Given the description of an element on the screen output the (x, y) to click on. 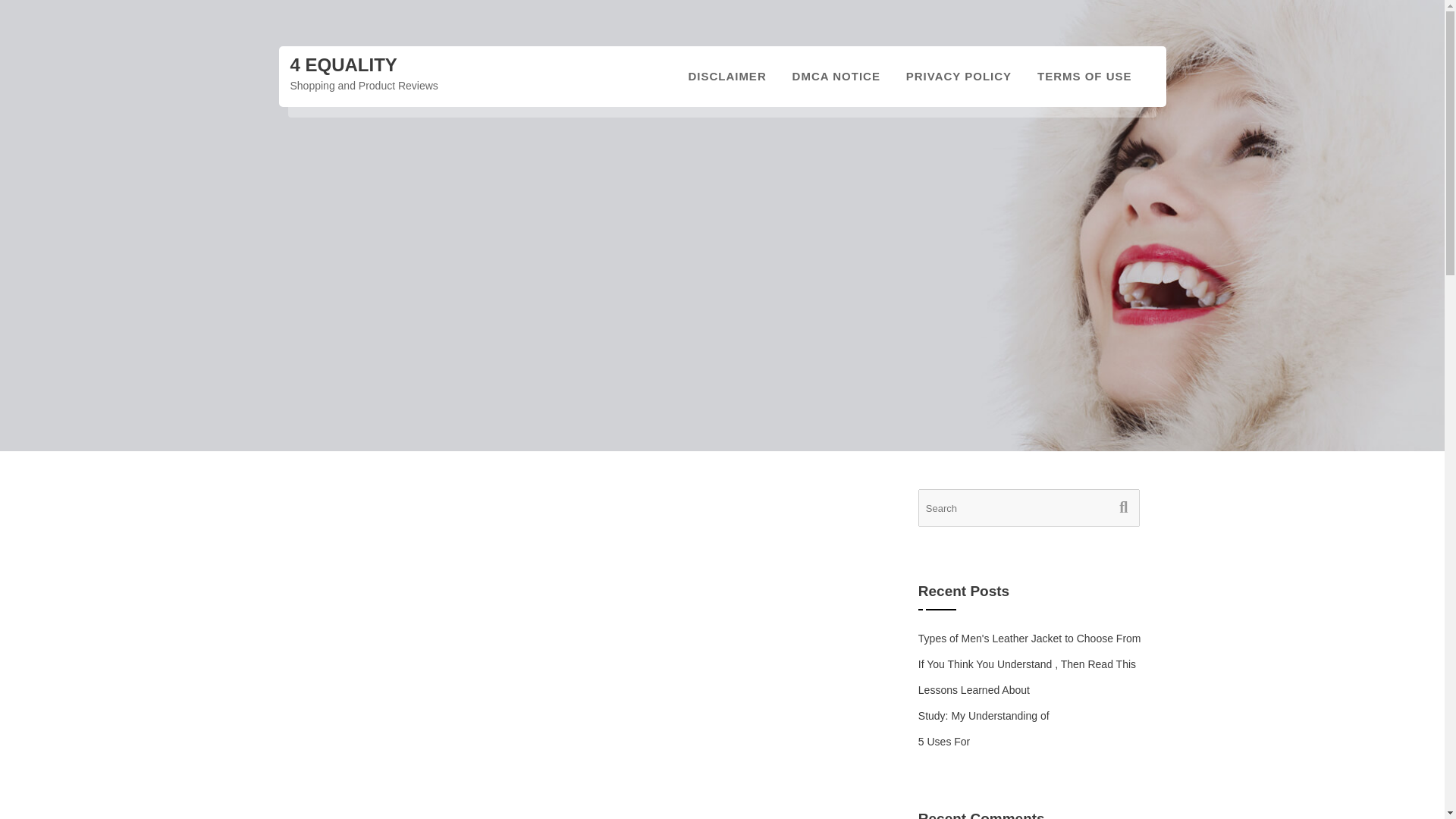
Types of Men's Leather Jacket to Choose From (1029, 638)
4 EQUALITY (342, 64)
If You Think You Understand , Then Read This (1026, 664)
DMCA NOTICE (835, 76)
DISCLAIMER (727, 76)
5 Uses For (943, 741)
PRIVACY POLICY (959, 76)
Lessons Learned About (973, 689)
Study: My Understanding of (983, 715)
4 Equality (342, 64)
